Given the description of an element on the screen output the (x, y) to click on. 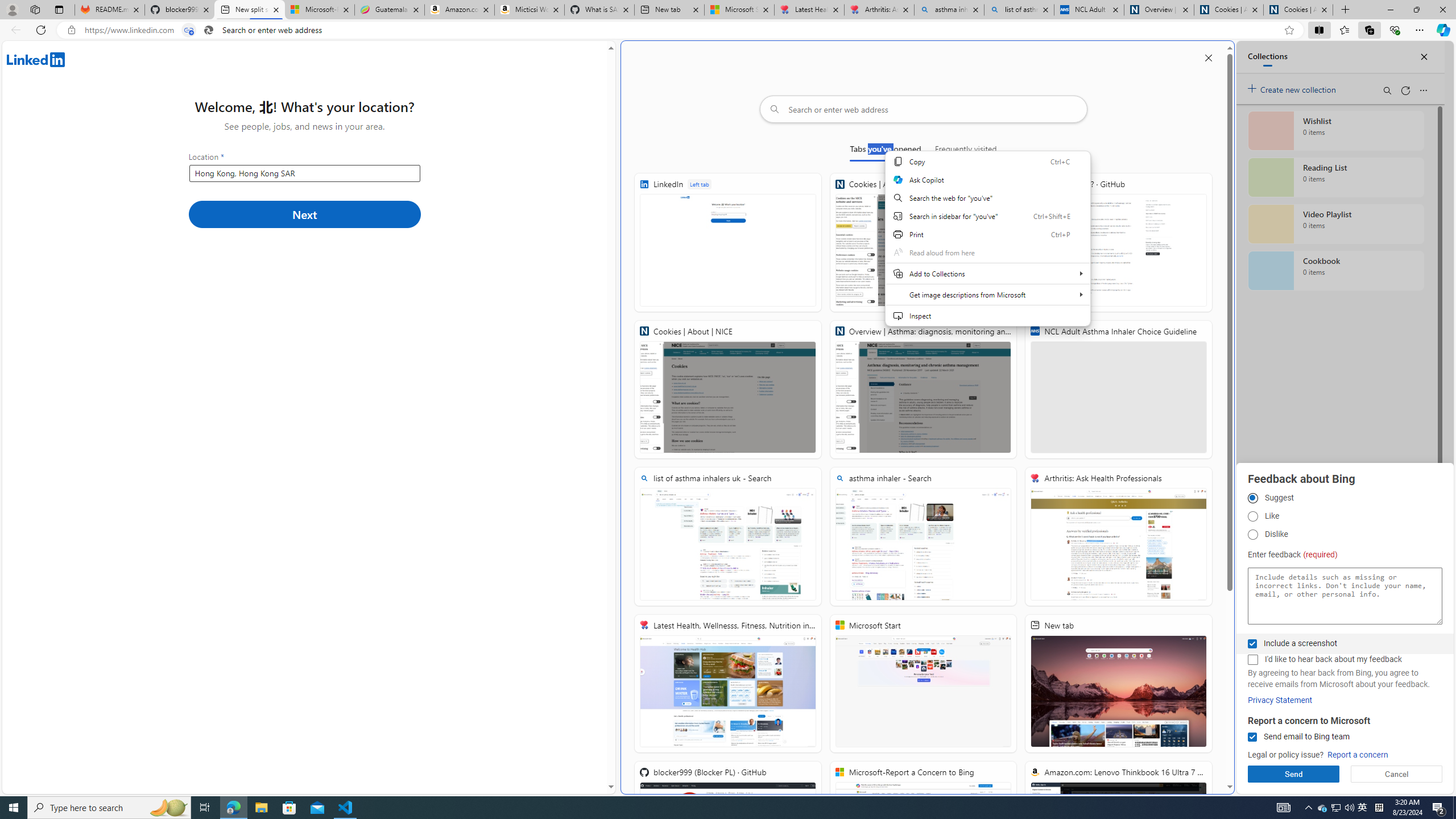
Search or enter web address (922, 108)
Cookies | About | NICE (727, 389)
list of asthma inhalers uk - Search (1018, 9)
Tabs in split screen (189, 29)
asthma inhaler - Search (922, 536)
